Given the description of an element on the screen output the (x, y) to click on. 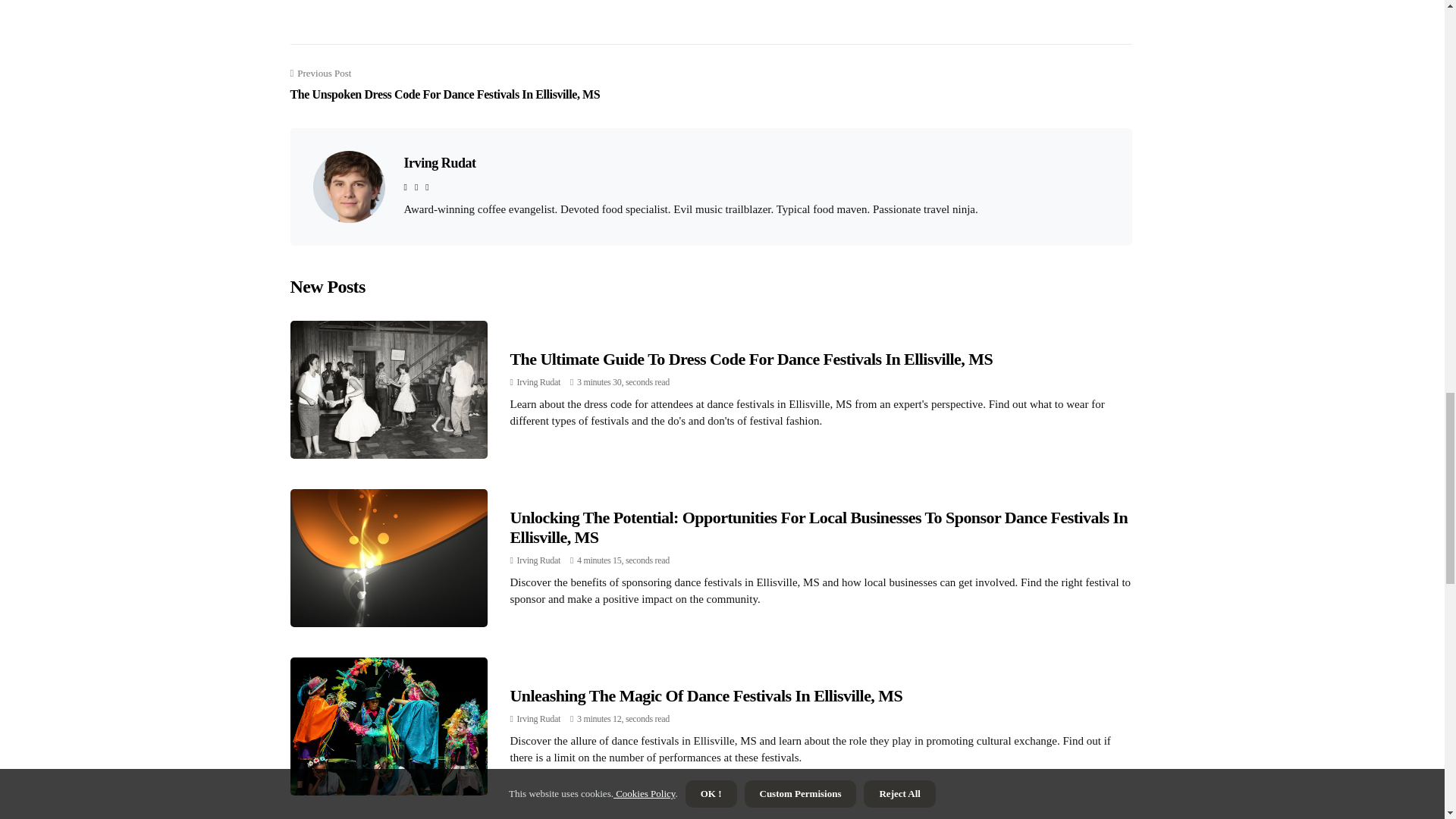
Unleashing The Magic Of Dance Festivals In Ellisville, MS (705, 695)
Irving Rudat (538, 381)
Irving Rudat (538, 718)
Posts by Irving Rudat (538, 381)
Posts by Irving Rudat (538, 718)
Irving Rudat (439, 162)
Posts by Irving Rudat (538, 560)
